Given the description of an element on the screen output the (x, y) to click on. 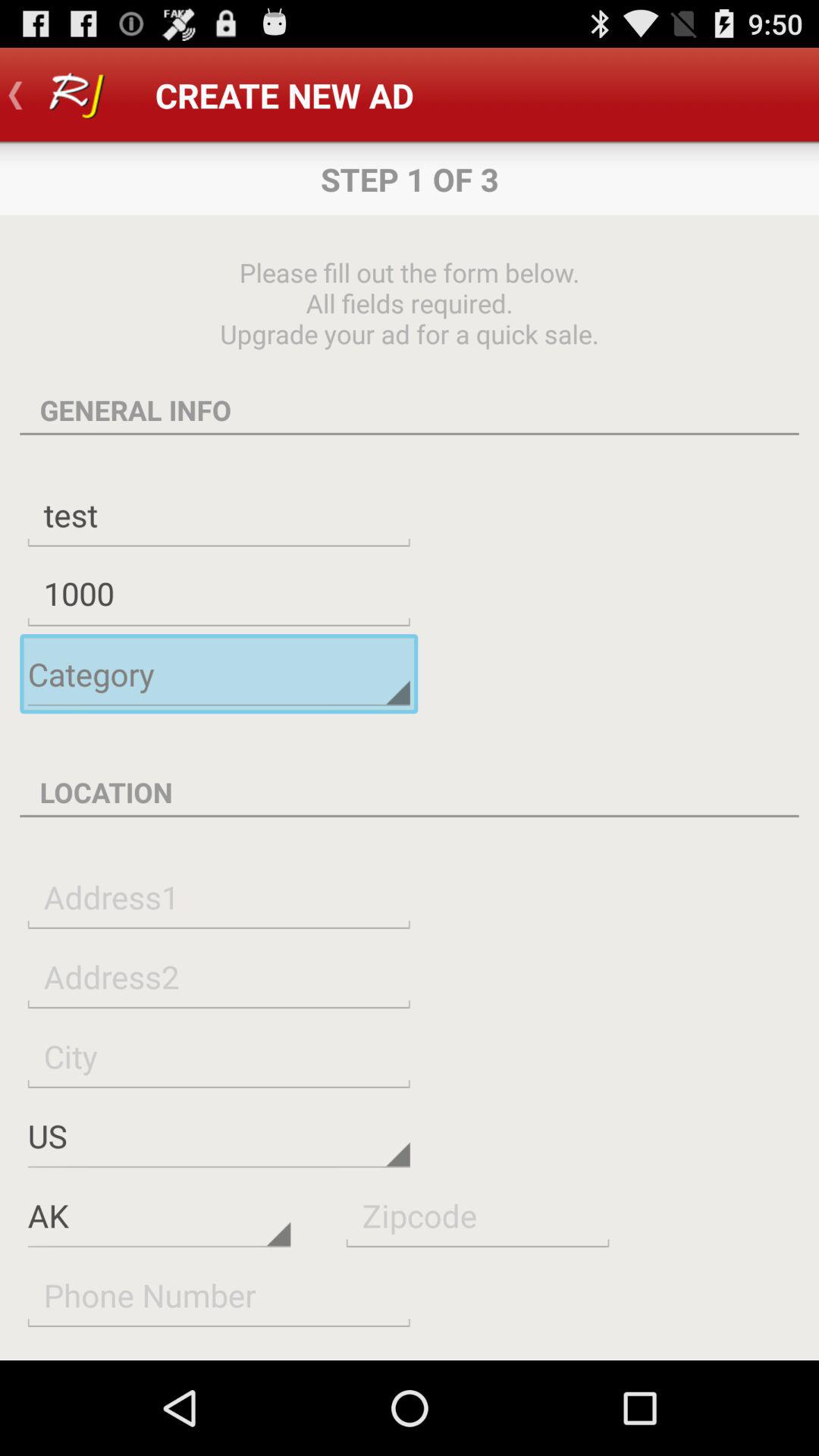
type address (218, 896)
